Given the description of an element on the screen output the (x, y) to click on. 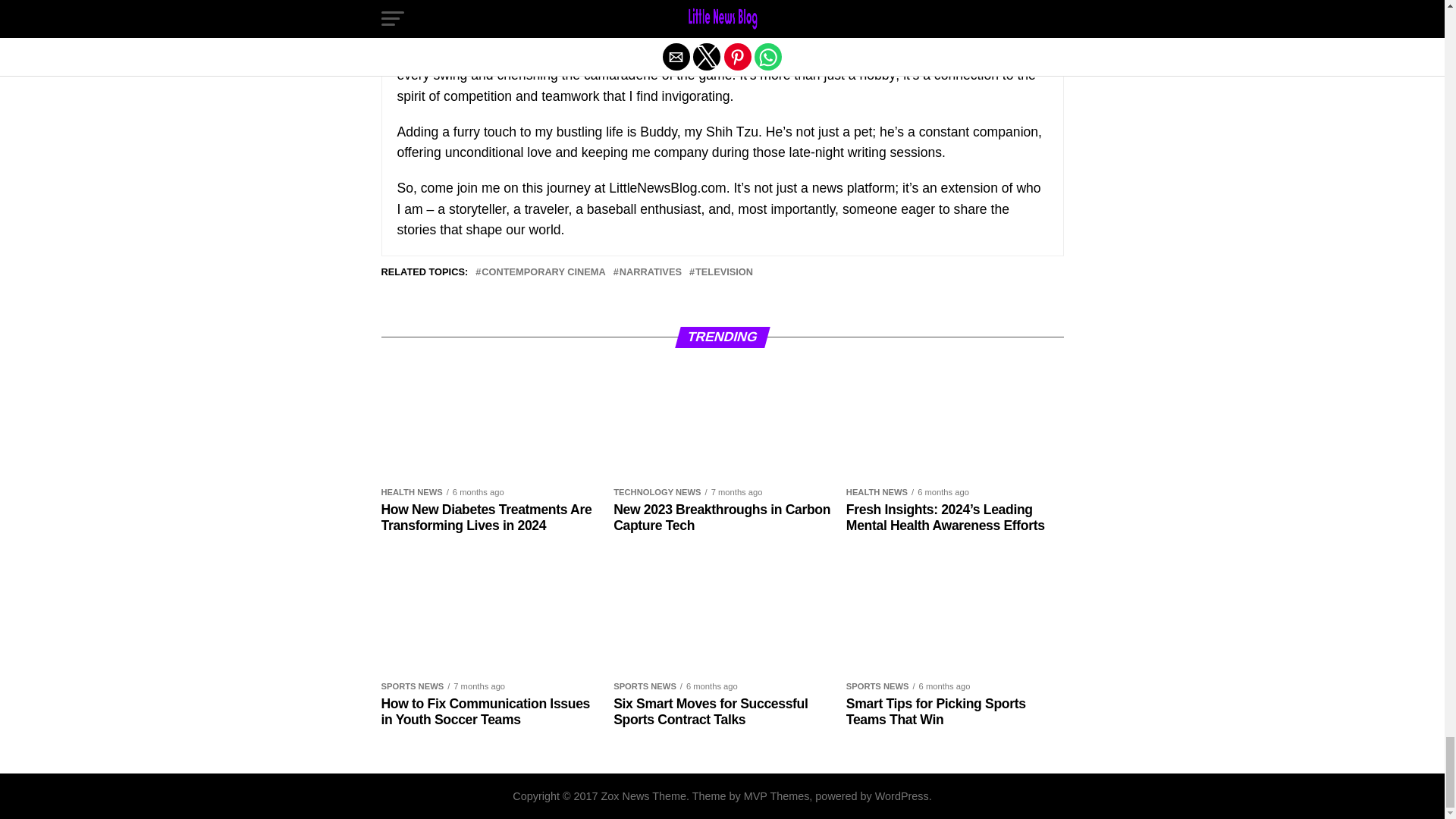
CONTEMPORARY CINEMA (543, 272)
NARRATIVES (650, 272)
TELEVISION (723, 272)
